Given the description of an element on the screen output the (x, y) to click on. 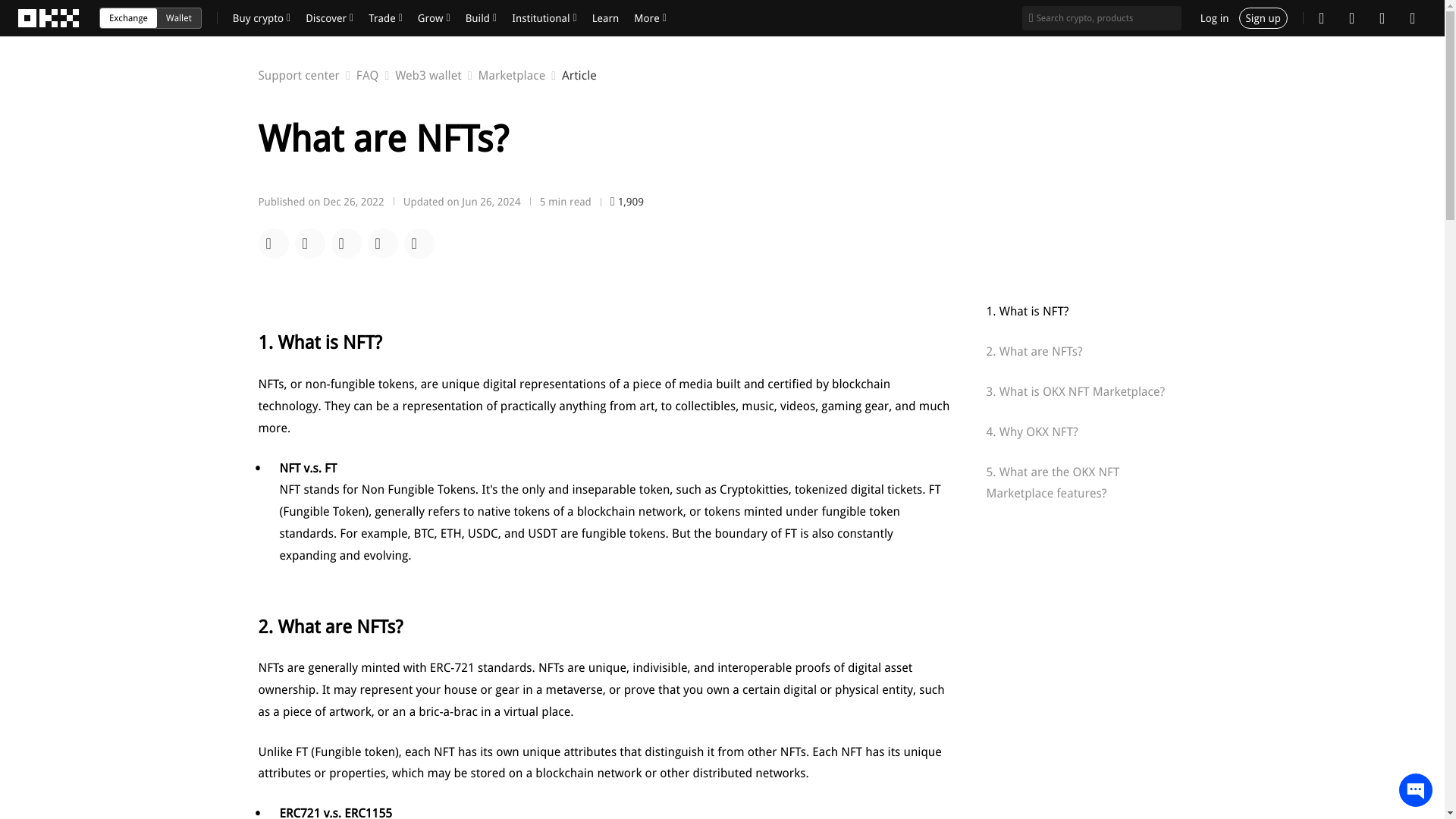
Wallet (426, 75)
OKX (178, 17)
Exchange (426, 75)
